Given the description of an element on the screen output the (x, y) to click on. 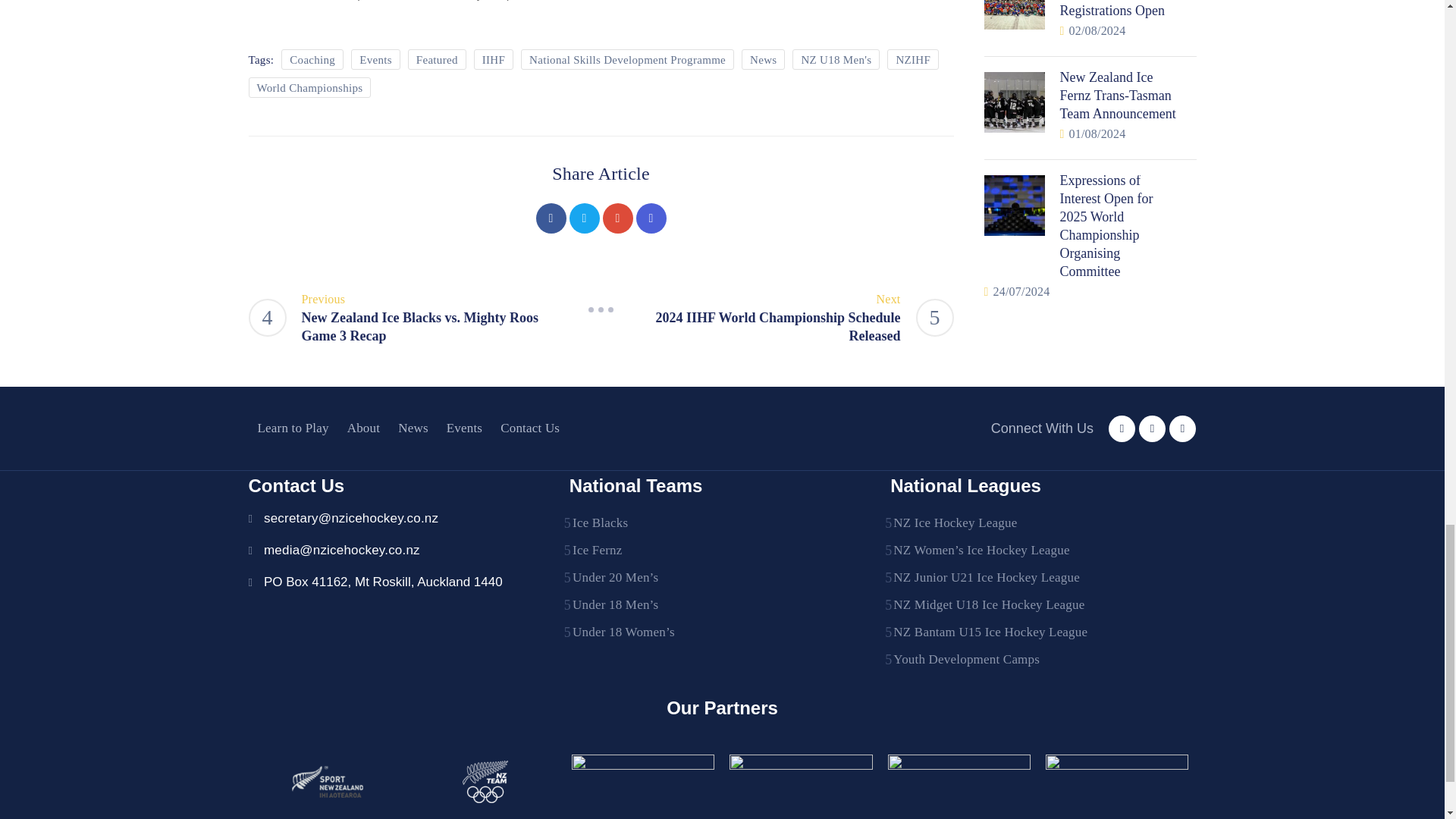
Pinterest (616, 218)
Facebook (550, 218)
Twitter (583, 218)
Linkedin (649, 218)
Slash (601, 309)
